Given the description of an element on the screen output the (x, y) to click on. 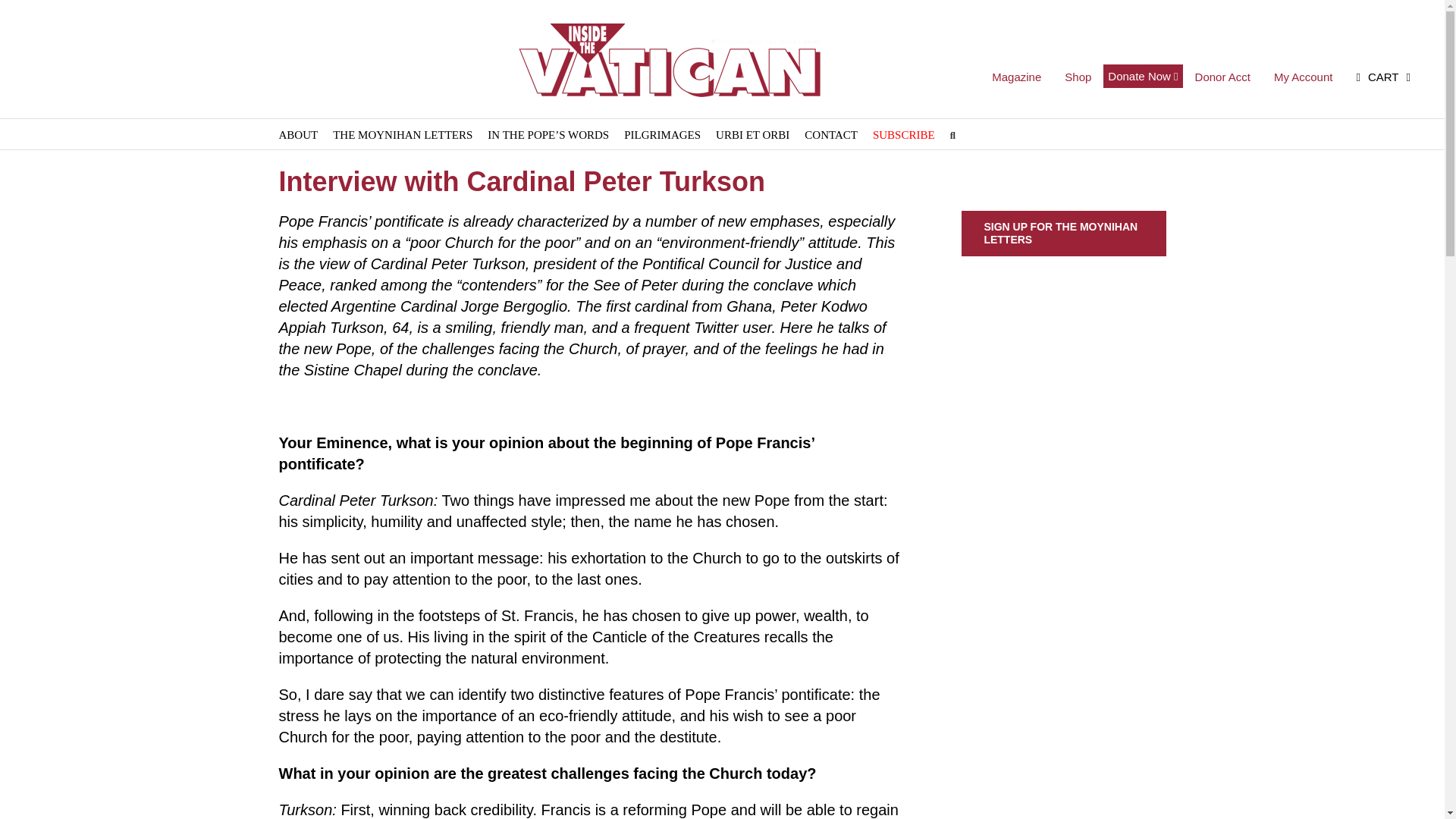
Shop (1077, 78)
Donate Now (1142, 75)
Log In (1352, 219)
My Account (1302, 78)
Magazine (1015, 78)
Donor Acct (1222, 78)
